Given the description of an element on the screen output the (x, y) to click on. 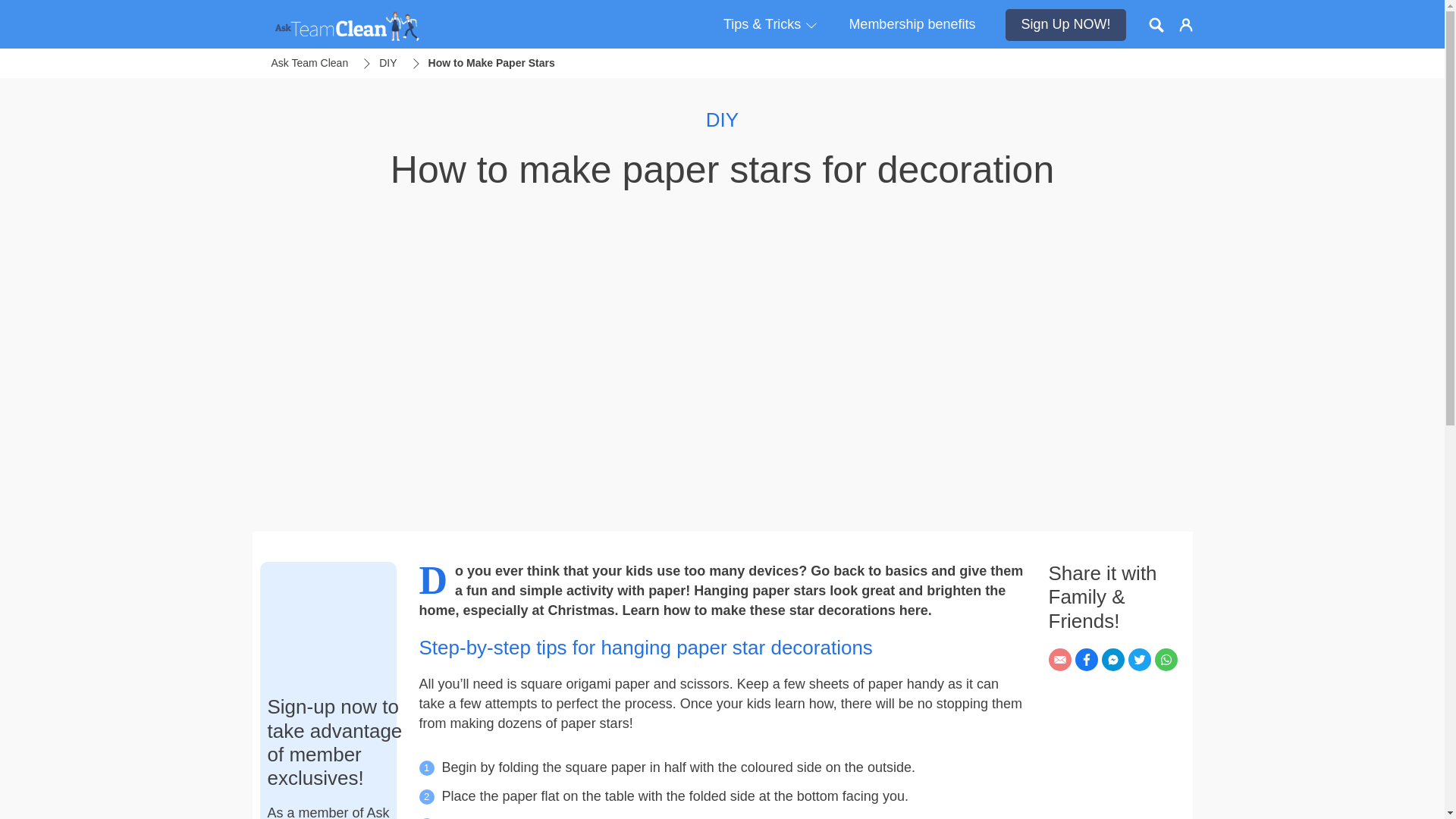
Sign Up NOW! (1065, 24)
Membership benefits (911, 24)
DIY (387, 63)
Ask Team Clean (309, 63)
